Given the description of an element on the screen output the (x, y) to click on. 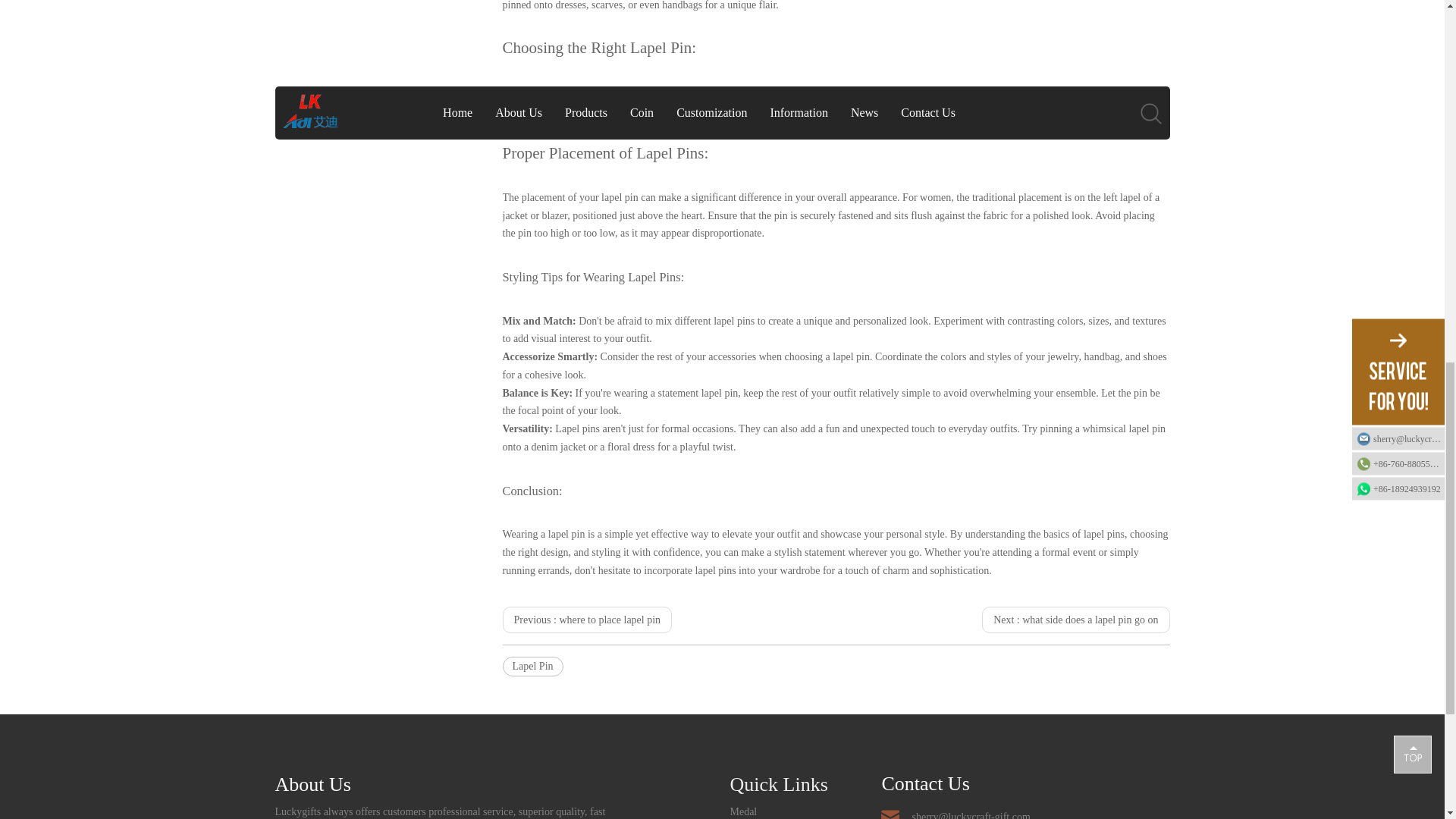
Medal (743, 811)
Lapel Pin (532, 666)
